Given the description of an element on the screen output the (x, y) to click on. 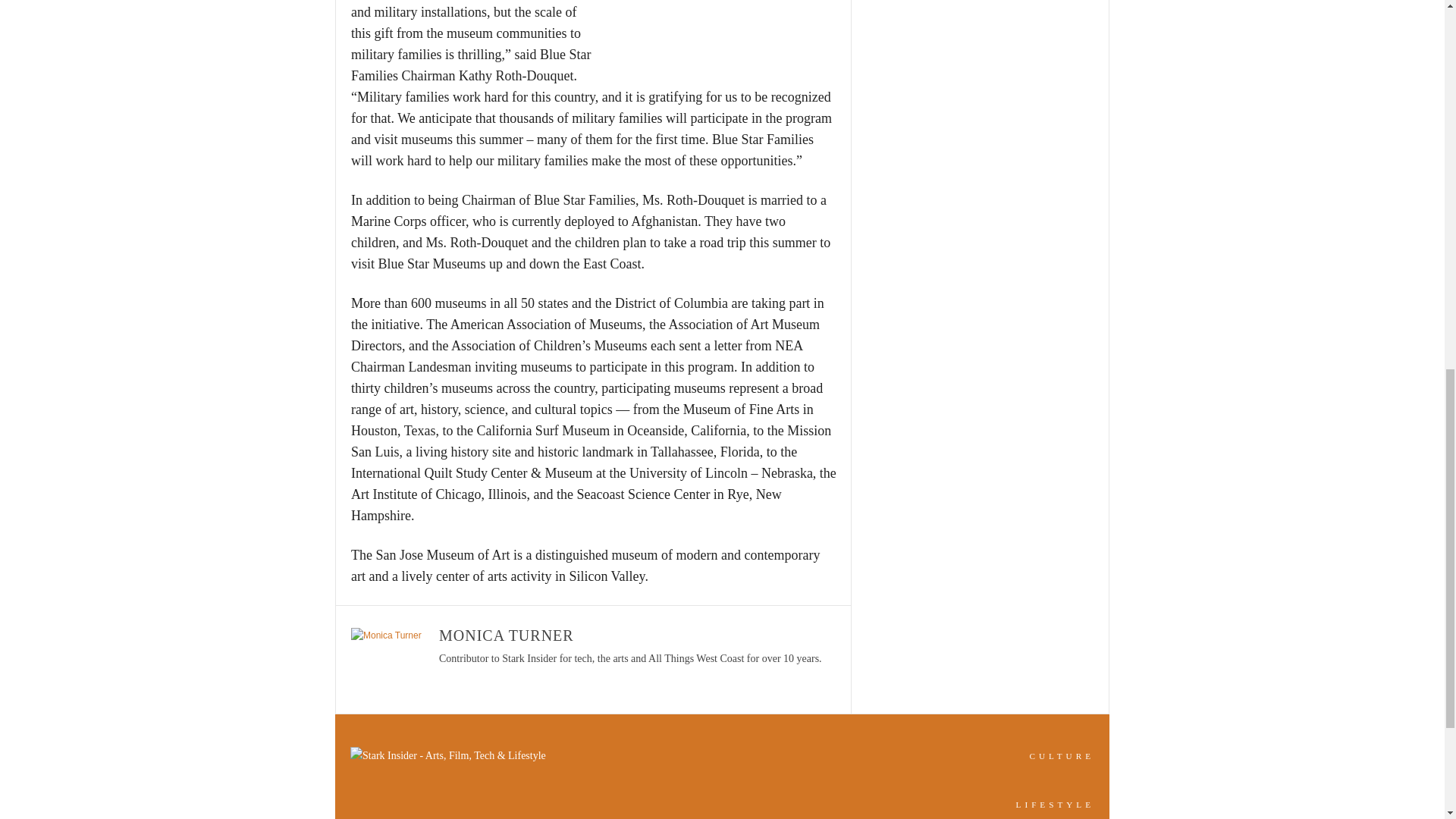
SJMA (721, 34)
CULTURE (1061, 755)
LIFESTYLE (1055, 804)
MONICA TURNER (506, 635)
